Given the description of an element on the screen output the (x, y) to click on. 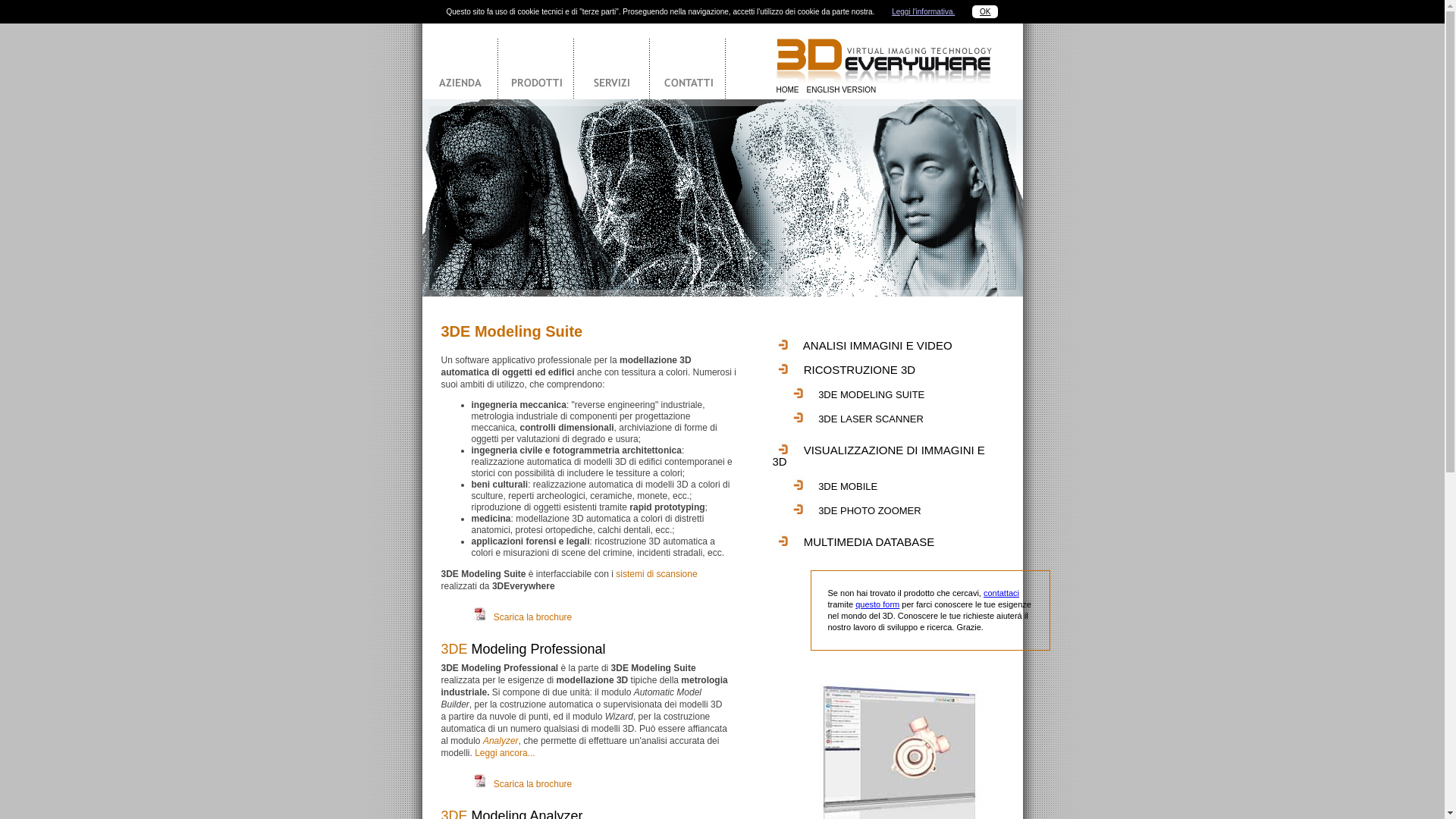
Servizi Element type: text (611, 61)
Leggi l'informativa. Element type: text (922, 11)
Prodotti Element type: text (535, 61)
Scarica la brochure Element type: text (532, 783)
sistemi di scansione Element type: text (655, 573)
VISUALIZZAZIONE DI IMMAGINI E 3D Element type: text (877, 455)
contattaci Element type: text (1001, 592)
HOME Element type: text (787, 89)
Scarica la brochure Element type: text (532, 616)
Contatti Element type: text (686, 61)
3DE MODELING SUITE Element type: text (871, 394)
ENGLISH VERSION Element type: text (841, 89)
ANALISI IMMAGINI E VIDEO Element type: text (877, 344)
OK Element type: text (984, 11)
MULTIMEDIA DATABASE Element type: text (869, 541)
3DE PHOTO ZOOMER Element type: text (869, 510)
Analyzer Element type: text (500, 740)
3DE MOBILE Element type: text (847, 486)
3DE LASER SCANNER Element type: text (870, 418)
Azienda Element type: text (459, 61)
Leggi ancora... Element type: text (504, 752)
questo form Element type: text (877, 603)
RICOSTRUZIONE 3D Element type: text (859, 369)
